Given the description of an element on the screen output the (x, y) to click on. 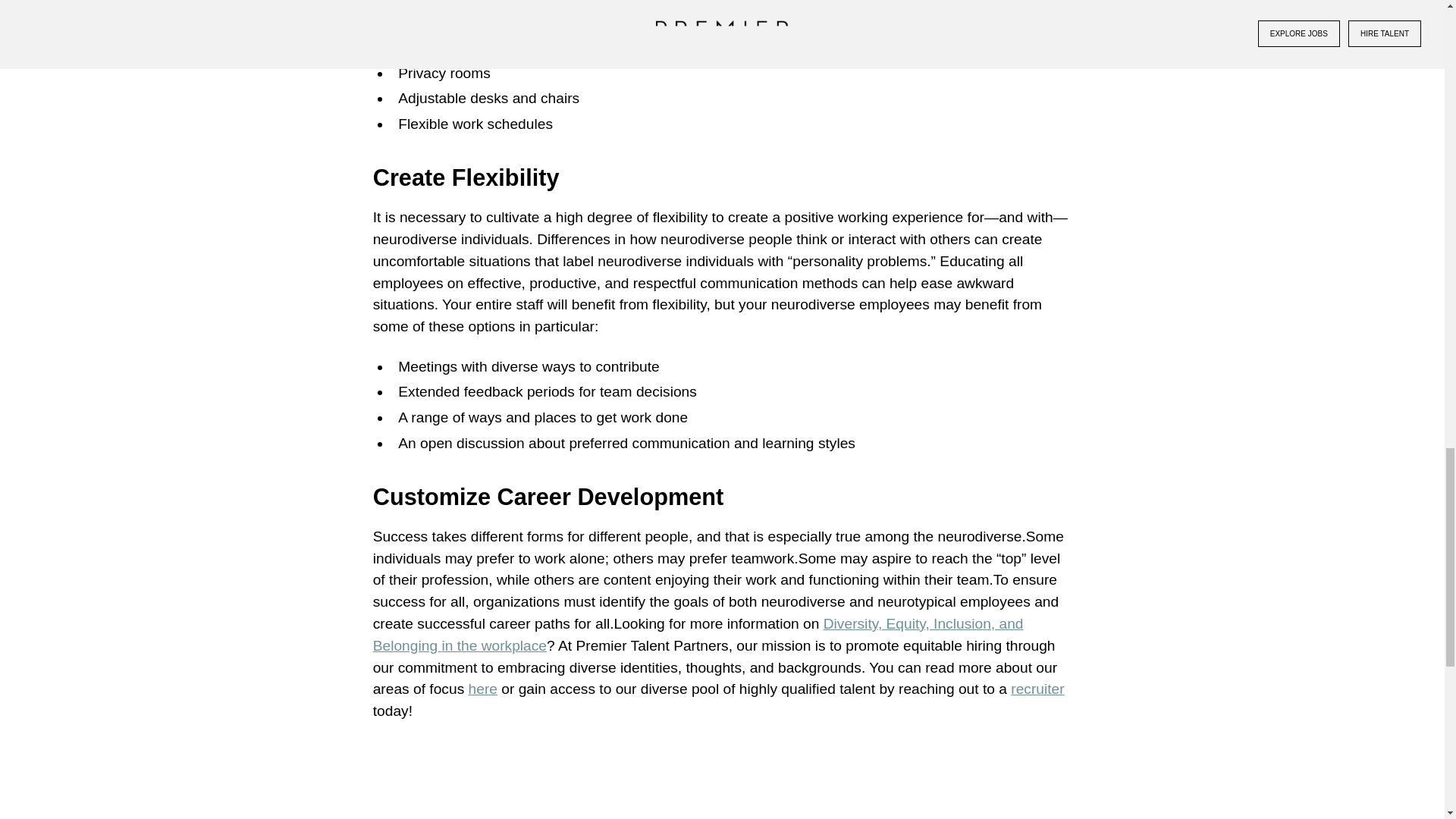
here (482, 688)
recruiter (1037, 688)
Diversity, Equity, Inclusion, and Belonging in the workplace (697, 634)
